Given the description of an element on the screen output the (x, y) to click on. 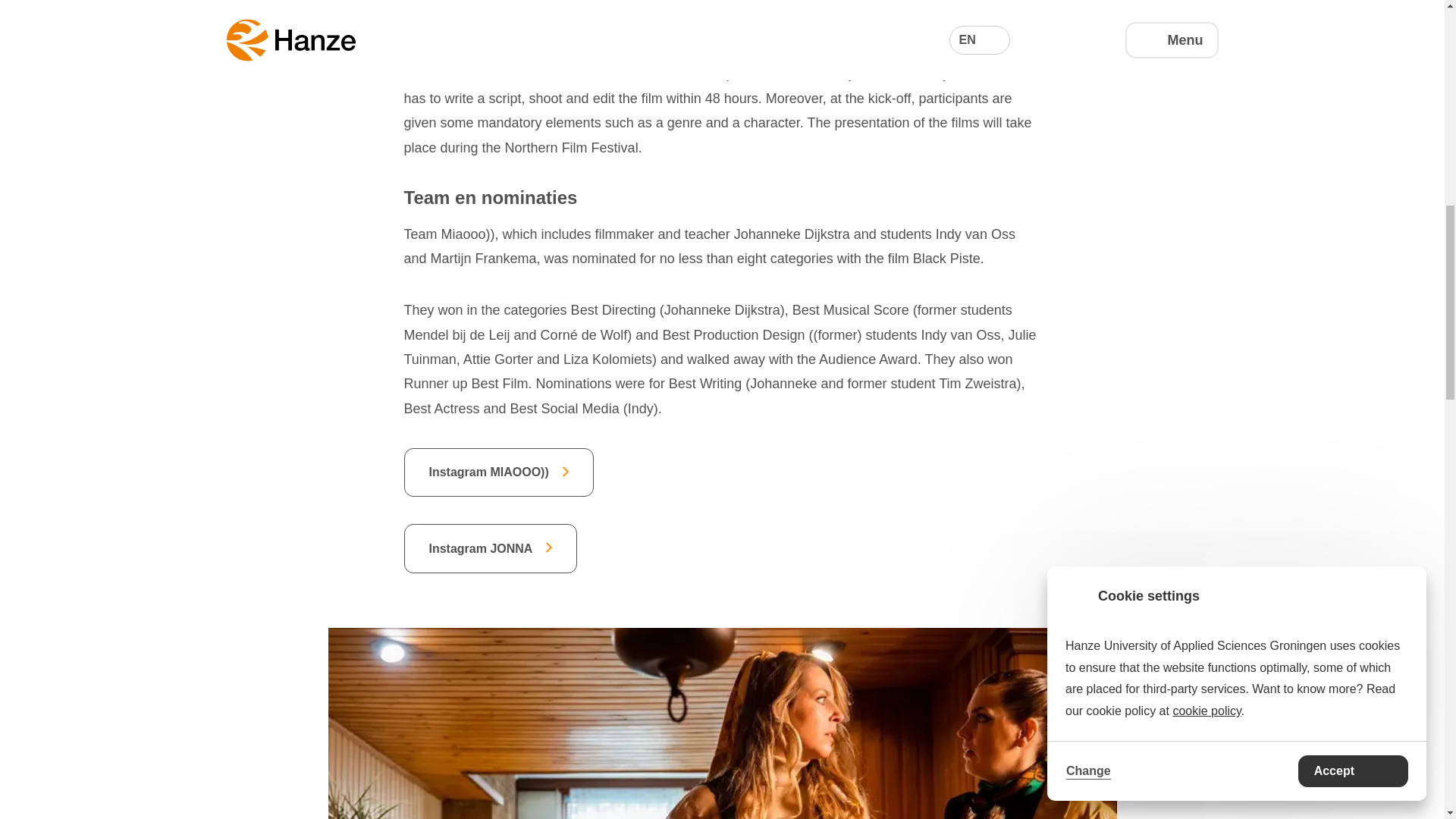
Instagram JONNA (489, 548)
Sla de carousel over (398, 655)
